Given the description of an element on the screen output the (x, y) to click on. 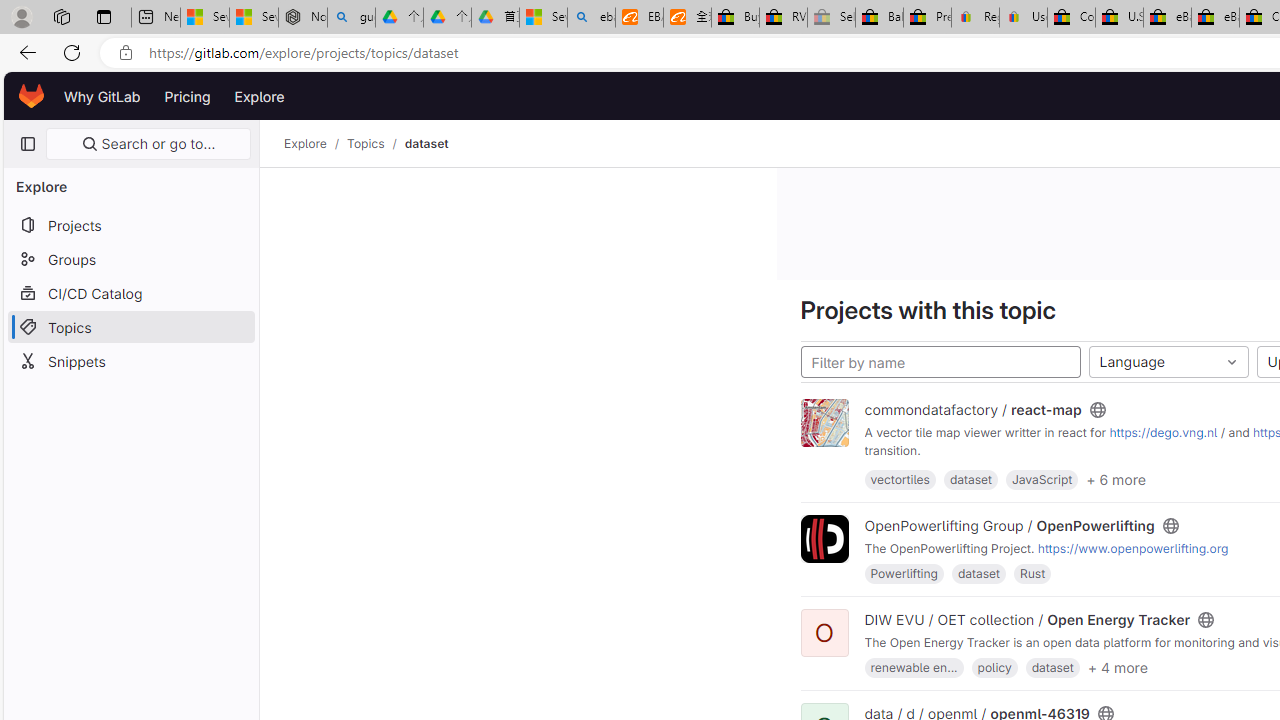
policy (993, 667)
Personal Profile (21, 16)
CI/CD Catalog (130, 292)
Primary navigation sidebar (27, 143)
CI/CD Catalog (130, 292)
+ 4 more (1117, 666)
DIW EVU / OET collection / Open Energy Tracker (1027, 620)
